Given the description of an element on the screen output the (x, y) to click on. 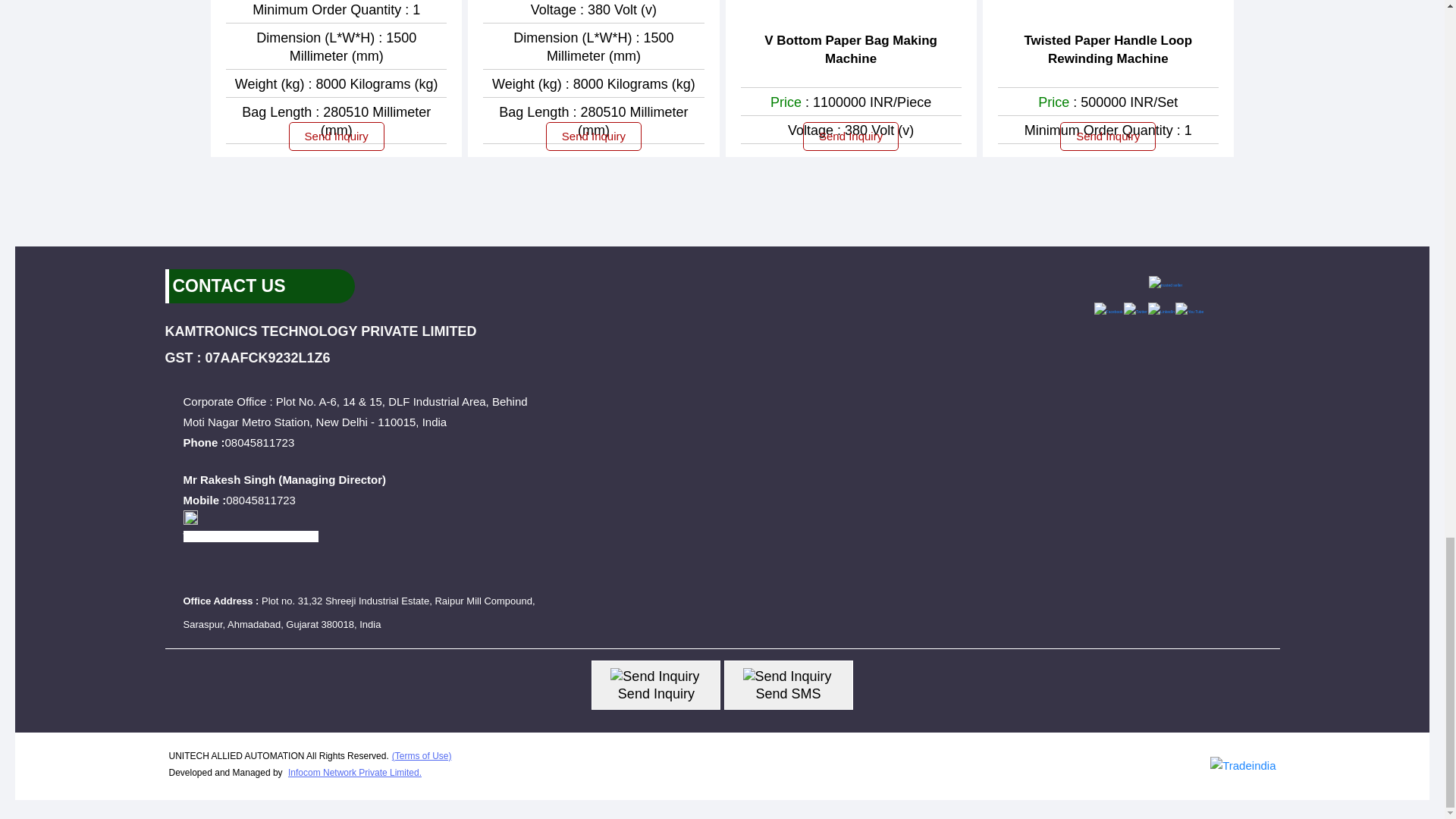
Accepts only Domestic Inquiries (190, 517)
Twitter (1135, 311)
Send Inquiry (786, 676)
Facebook (1108, 311)
LinkedIn (1161, 311)
You Tube (1189, 311)
Send Inquiry (654, 676)
